Given the description of an element on the screen output the (x, y) to click on. 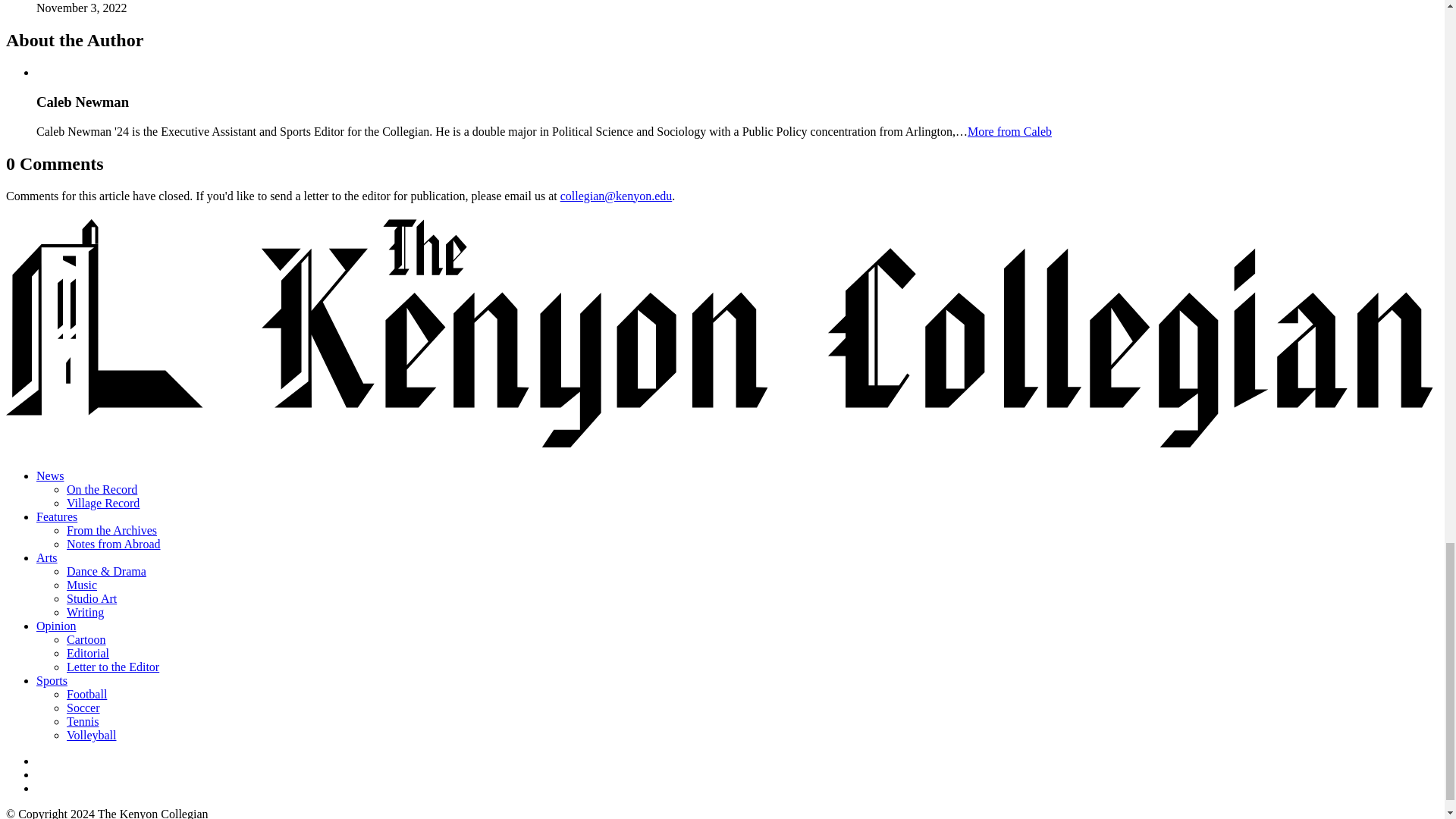
Village Record (102, 502)
News (50, 475)
Features (56, 516)
From the Archives (111, 530)
More from Caleb (1009, 131)
Notes from Abroad (113, 543)
Arts (47, 557)
On the Record (101, 489)
